Given the description of an element on the screen output the (x, y) to click on. 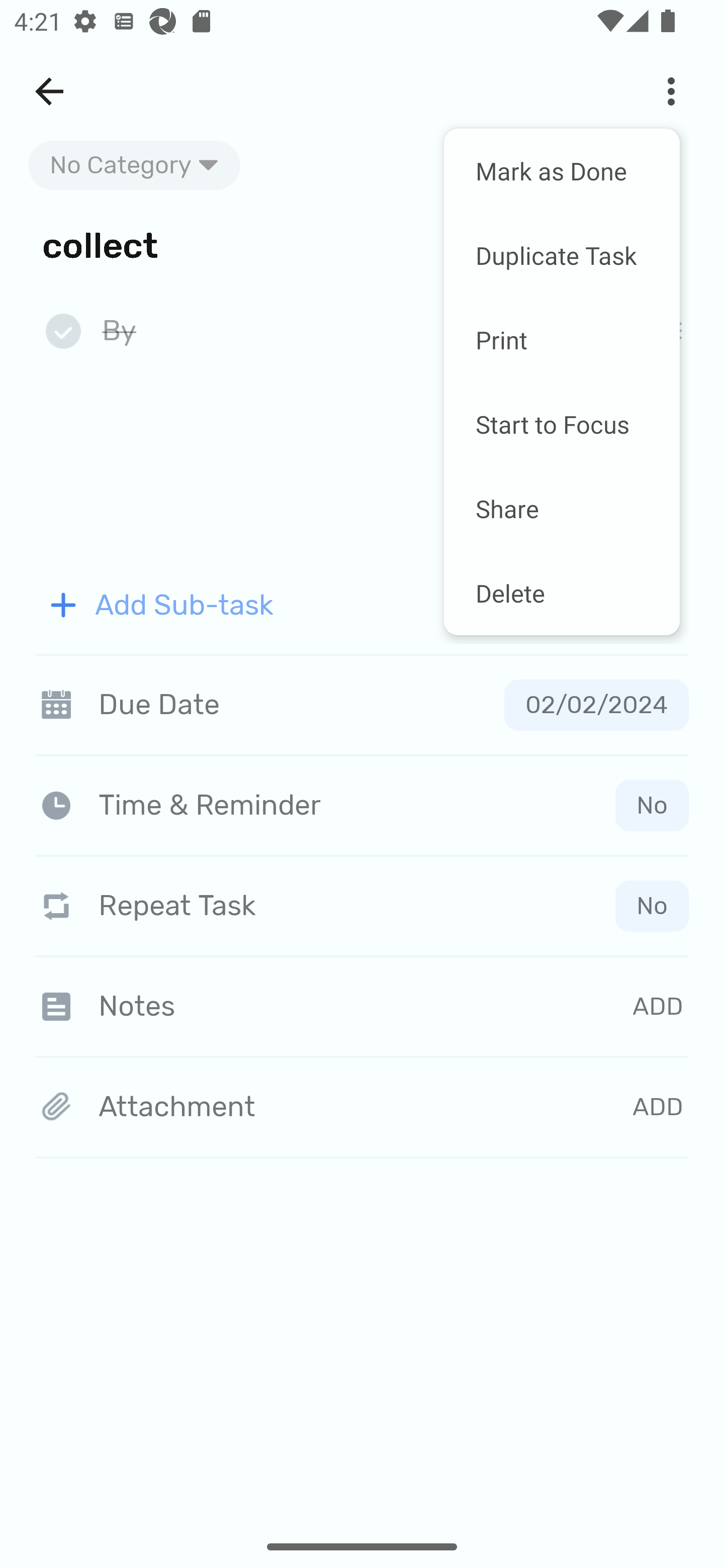
Mark as Done (561, 170)
Duplicate Task (561, 255)
Print (561, 339)
Start to Focus (561, 423)
Share (561, 507)
Delete (561, 592)
